Given the description of an element on the screen output the (x, y) to click on. 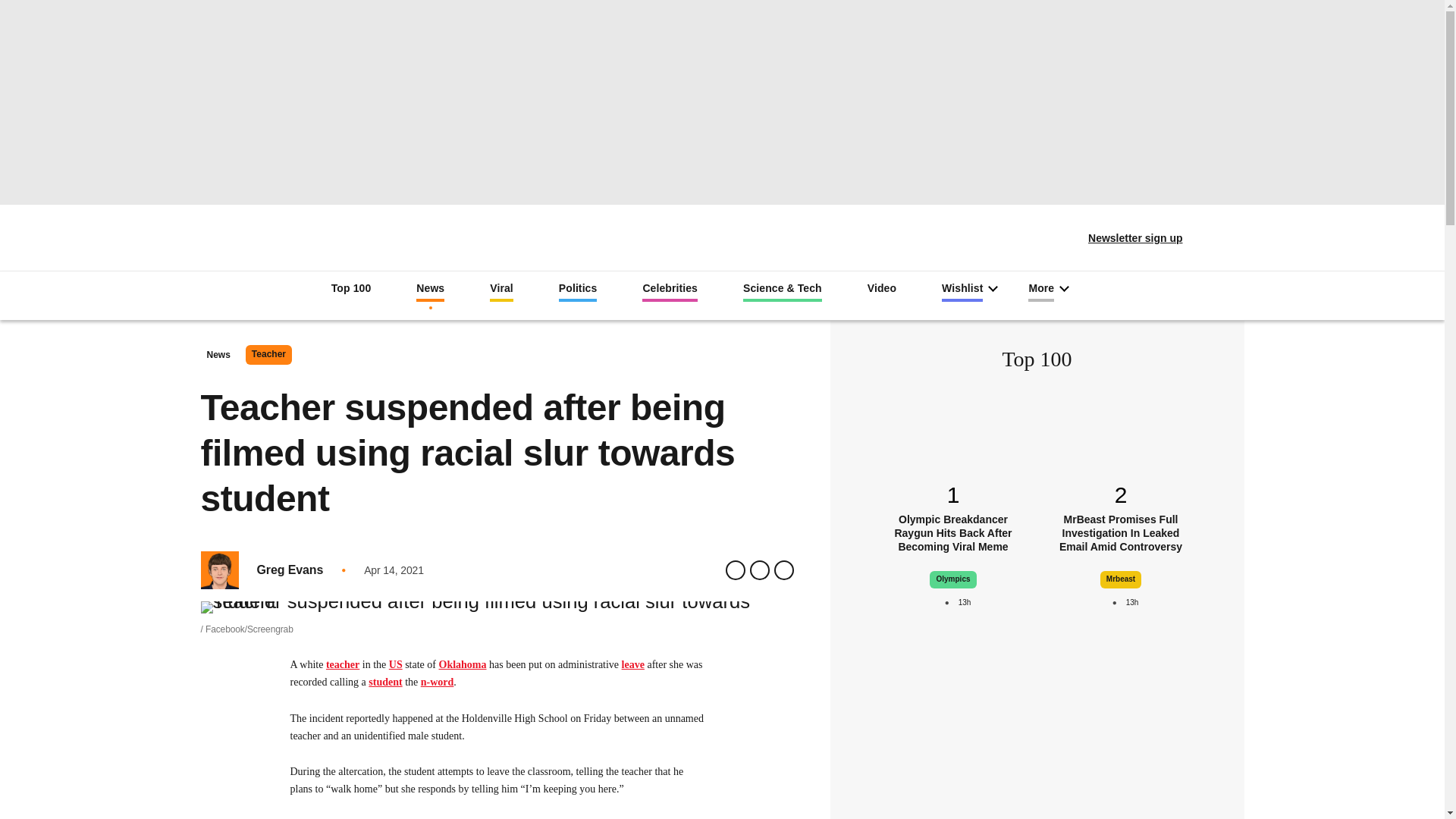
News (430, 291)
Newsletter sign up (1124, 238)
Celebrities (669, 291)
Indy100 logo (722, 232)
Politics (577, 291)
Viral (501, 291)
Top 100 (351, 289)
